Given the description of an element on the screen output the (x, y) to click on. 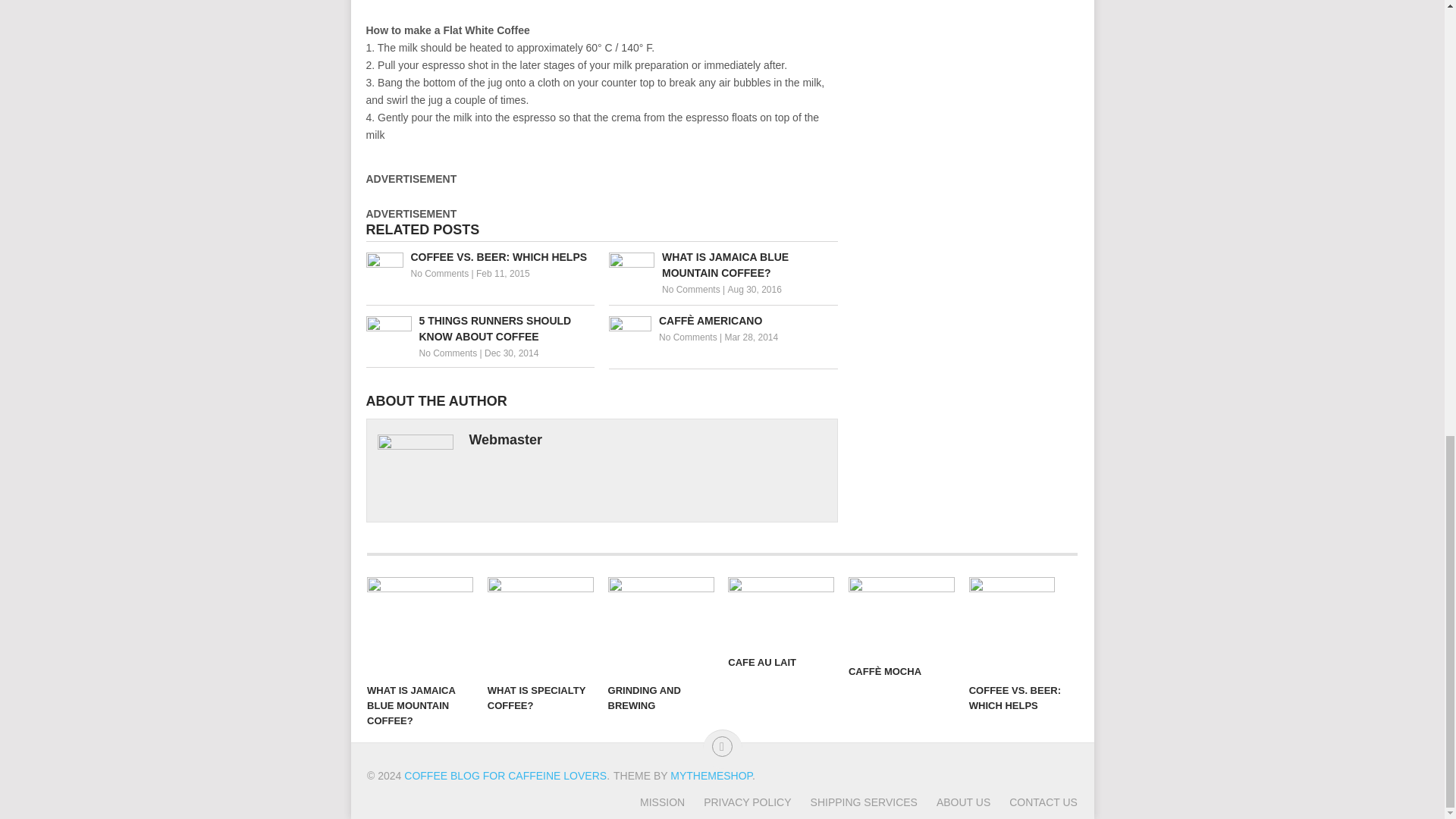
WHAT IS JAMAICA BLUE MOUNTAIN COFFEE? (723, 265)
No Comments (439, 273)
5 Things Runners should know about COFFEE (479, 328)
No Comments (691, 289)
No Comments (688, 337)
COFFEE VS. BEER: WHICH HELPS (479, 257)
5 THINGS RUNNERS SHOULD KNOW ABOUT COFFEE (479, 328)
What is Specialty Coffee? (540, 626)
What is Jamaica Blue Mountain Coffee? (723, 265)
No Comments (448, 353)
